Given the description of an element on the screen output the (x, y) to click on. 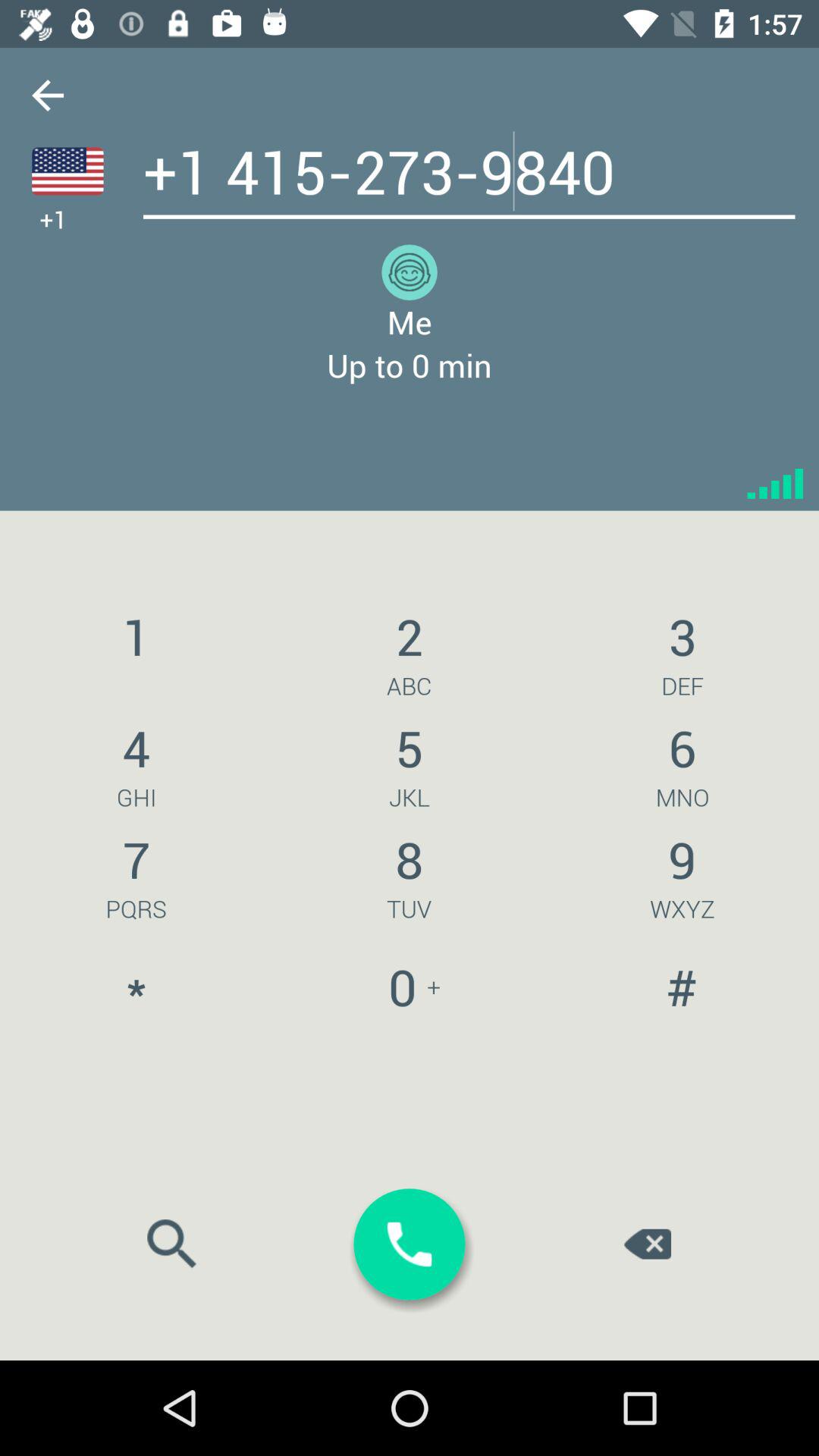
press icon to the left of 1 415 273 item (47, 95)
